Given the description of an element on the screen output the (x, y) to click on. 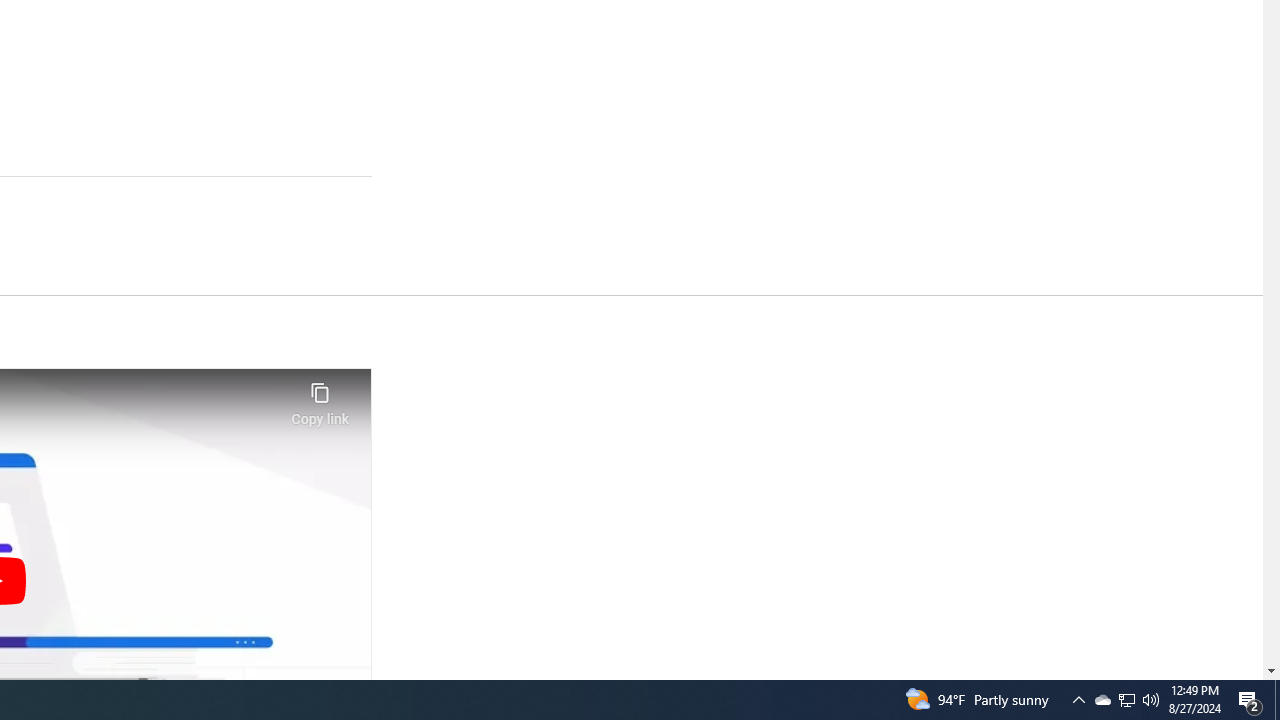
Copy link (319, 398)
